Given the description of an element on the screen output the (x, y) to click on. 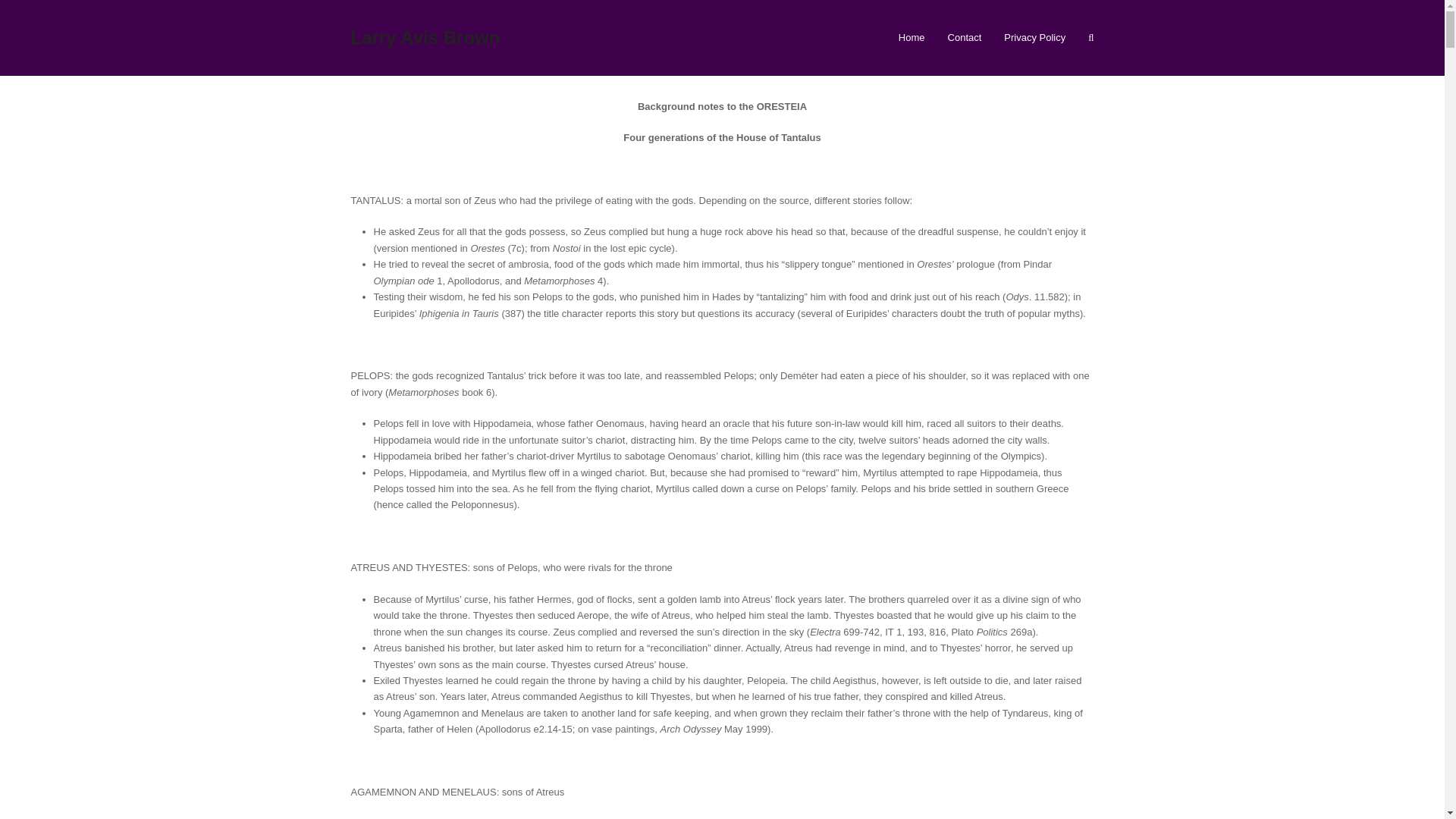
Contact (964, 37)
Privacy Policy (1034, 37)
Larry Avis Brown (424, 37)
Home (911, 37)
